Given the description of an element on the screen output the (x, y) to click on. 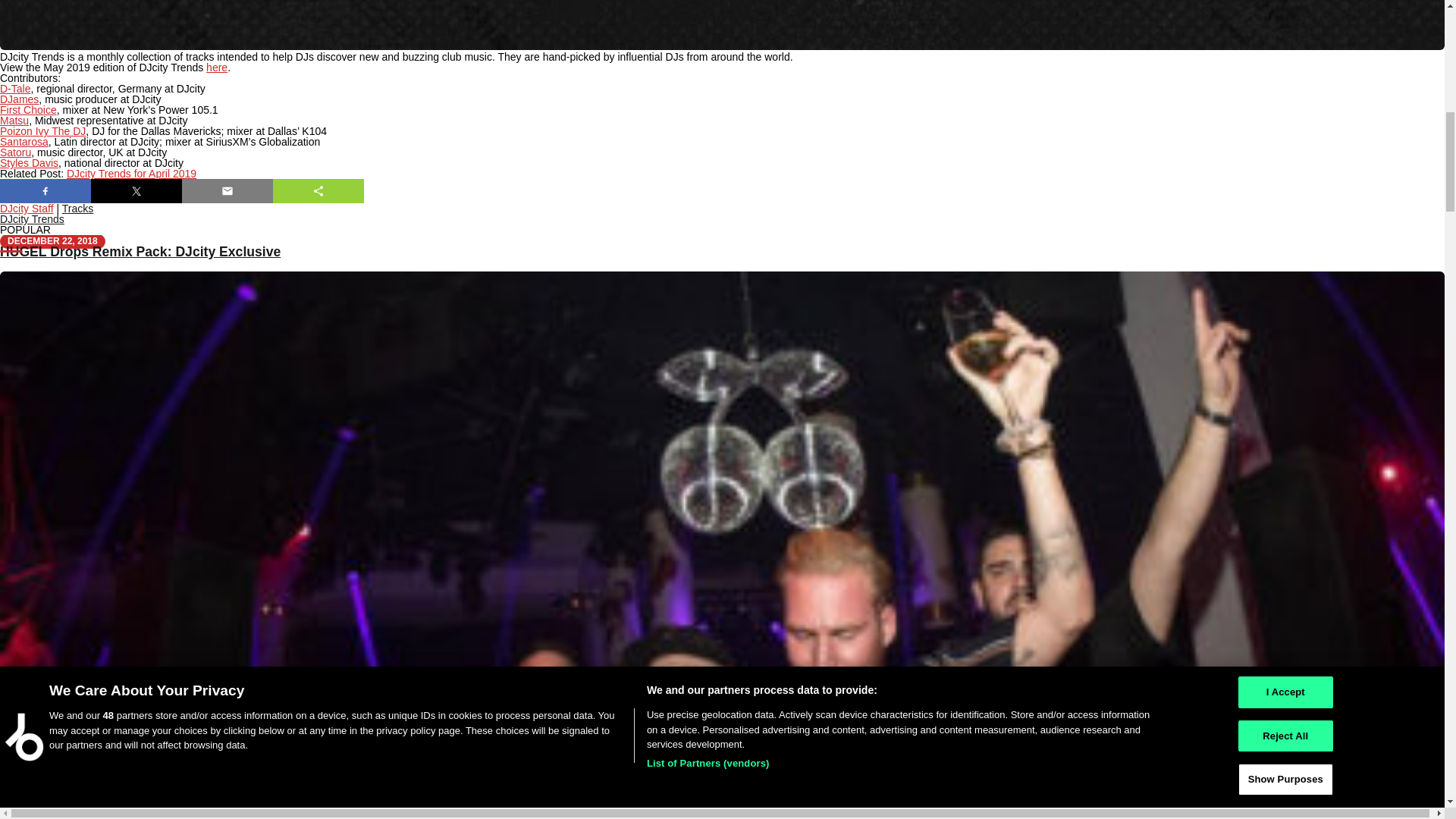
Posts by DJcity Staff (26, 208)
Matsu (14, 120)
Santarosa (24, 141)
DJcity Trends for April 2019 (131, 173)
Styles Davis (29, 162)
HUGEL Drops Remix Pack: DJcity Exclusive (140, 251)
here (216, 67)
DJcity Staff (26, 208)
Poizon Ivy The DJ (42, 131)
First Choice (28, 110)
Satoru (15, 152)
DJcity Trends (32, 218)
Tracks (77, 208)
D-Tale (15, 88)
DJames (19, 99)
